Given the description of an element on the screen output the (x, y) to click on. 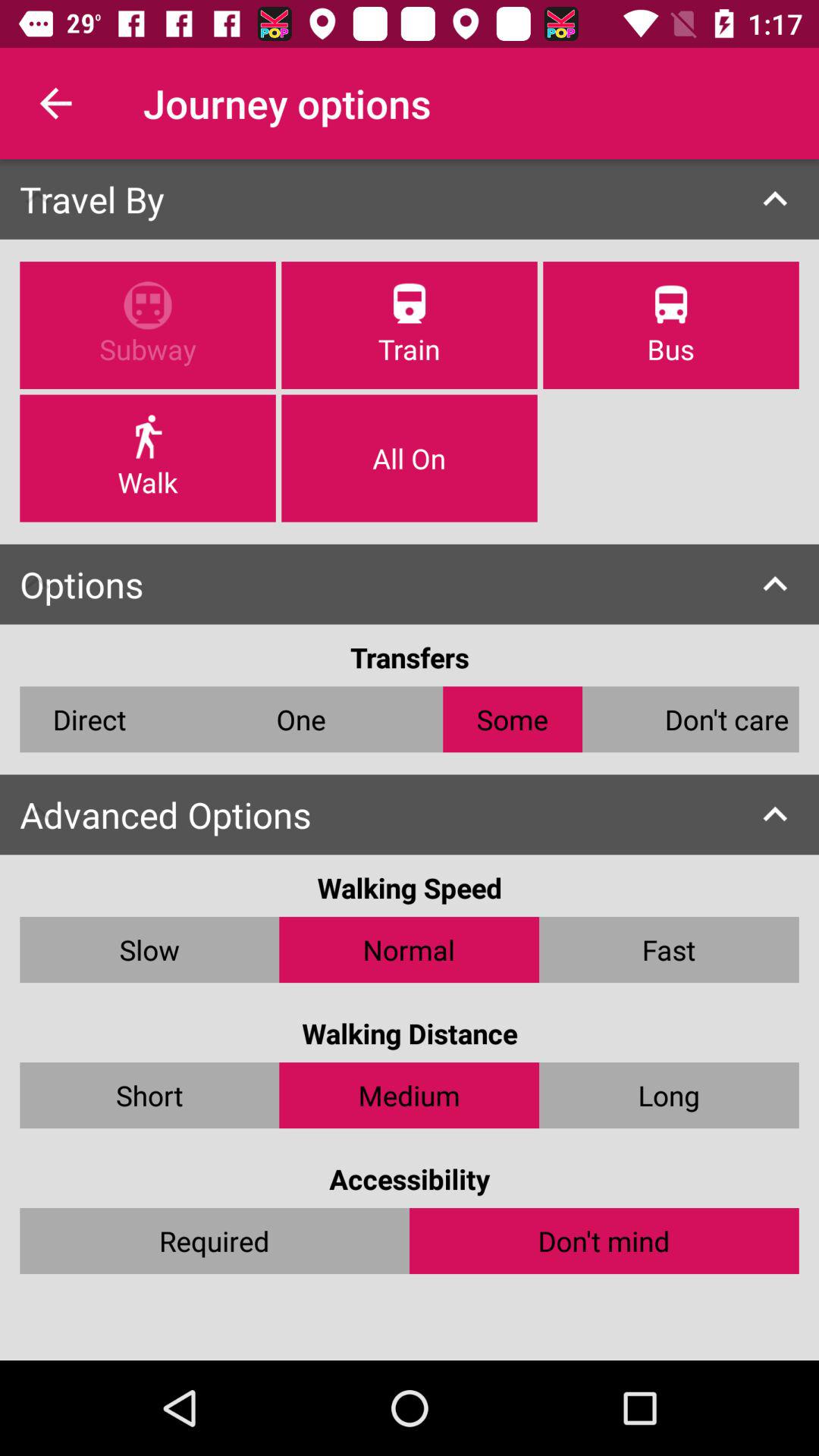
launch some icon (512, 719)
